Given the description of an element on the screen output the (x, y) to click on. 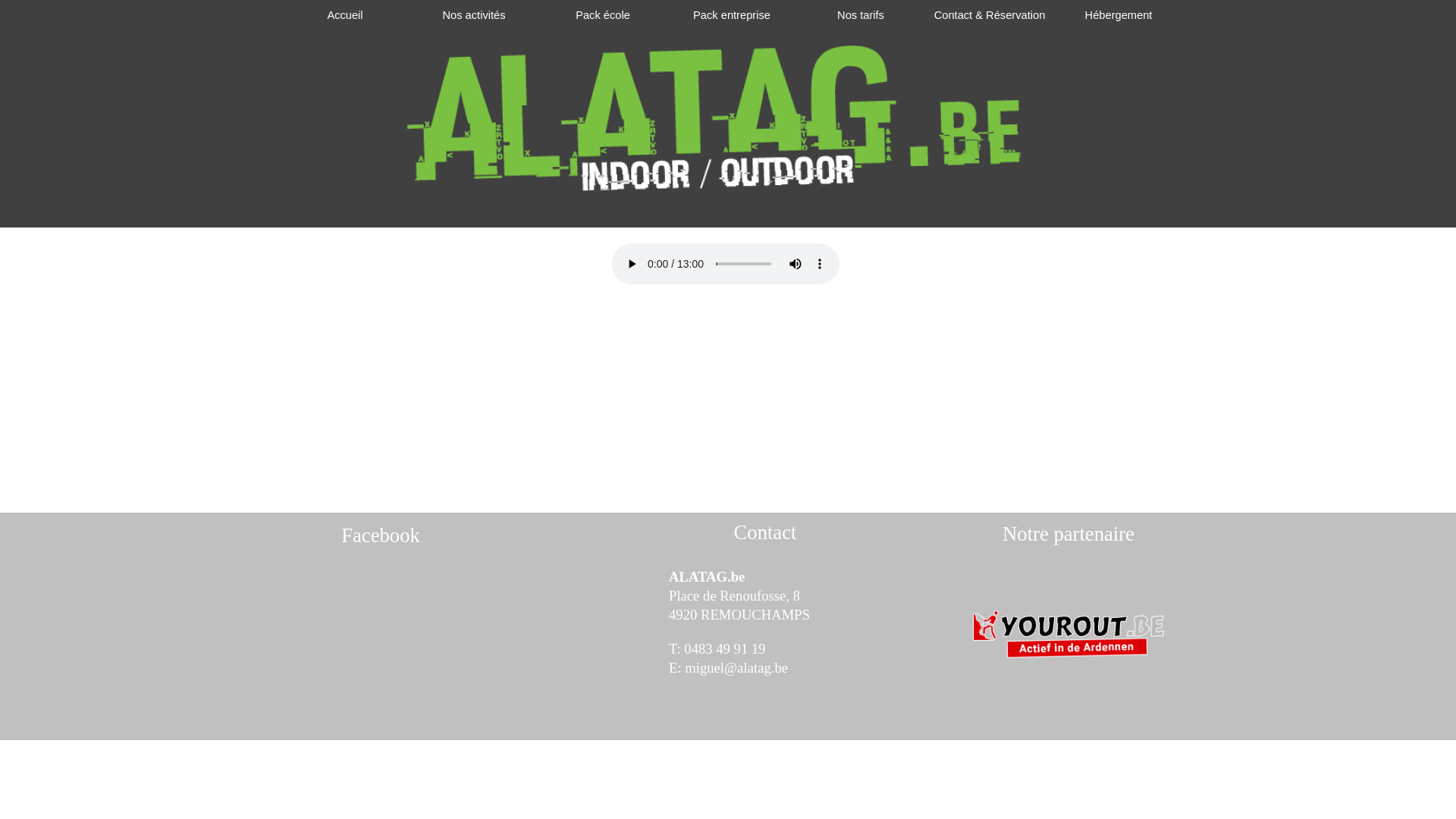
Pack entreprise Element type: text (731, 14)
Accueil Element type: text (344, 14)
Nos tarifs Element type: text (860, 14)
